Given the description of an element on the screen output the (x, y) to click on. 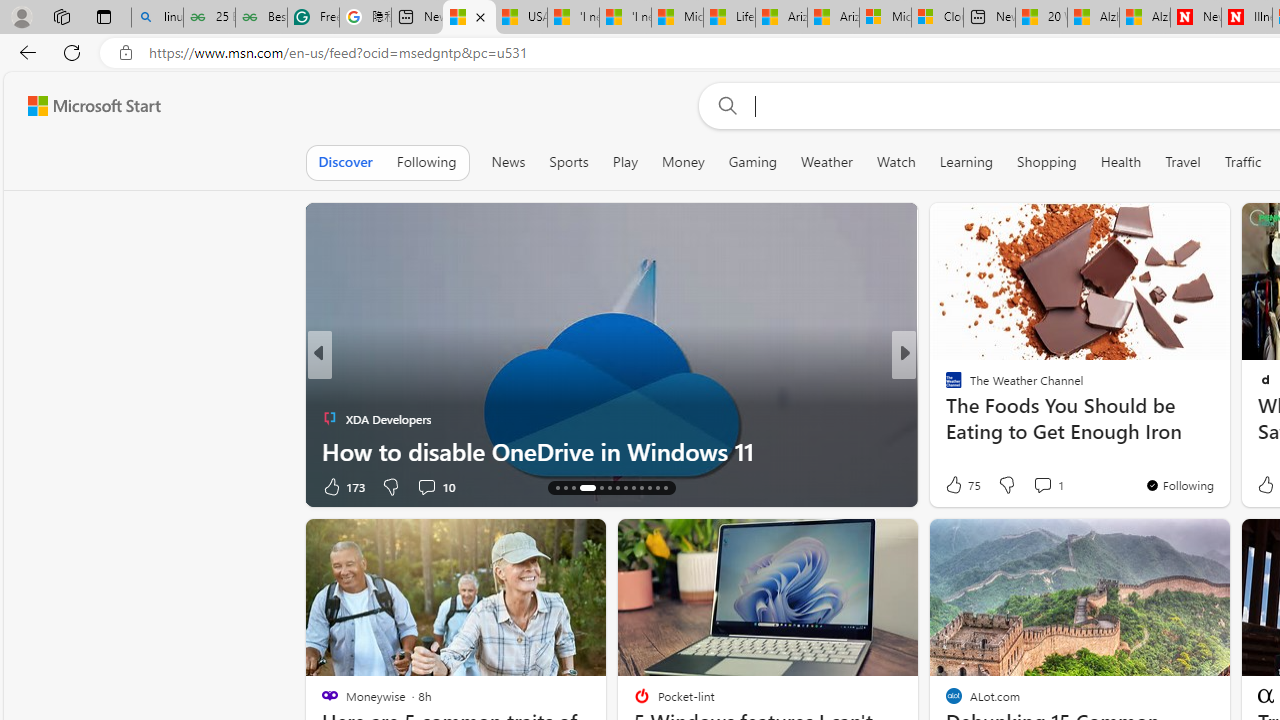
Lifestyle - MSN (729, 17)
42 Like (956, 486)
AutomationID: tab-26 (664, 487)
275 Like (959, 486)
AutomationID: tab-15 (564, 487)
32 Like (956, 486)
View comments 787 Comment (1035, 485)
73 Like (956, 486)
AutomationID: tab-16 (573, 487)
This story is trending (256, 490)
